Given the description of an element on the screen output the (x, y) to click on. 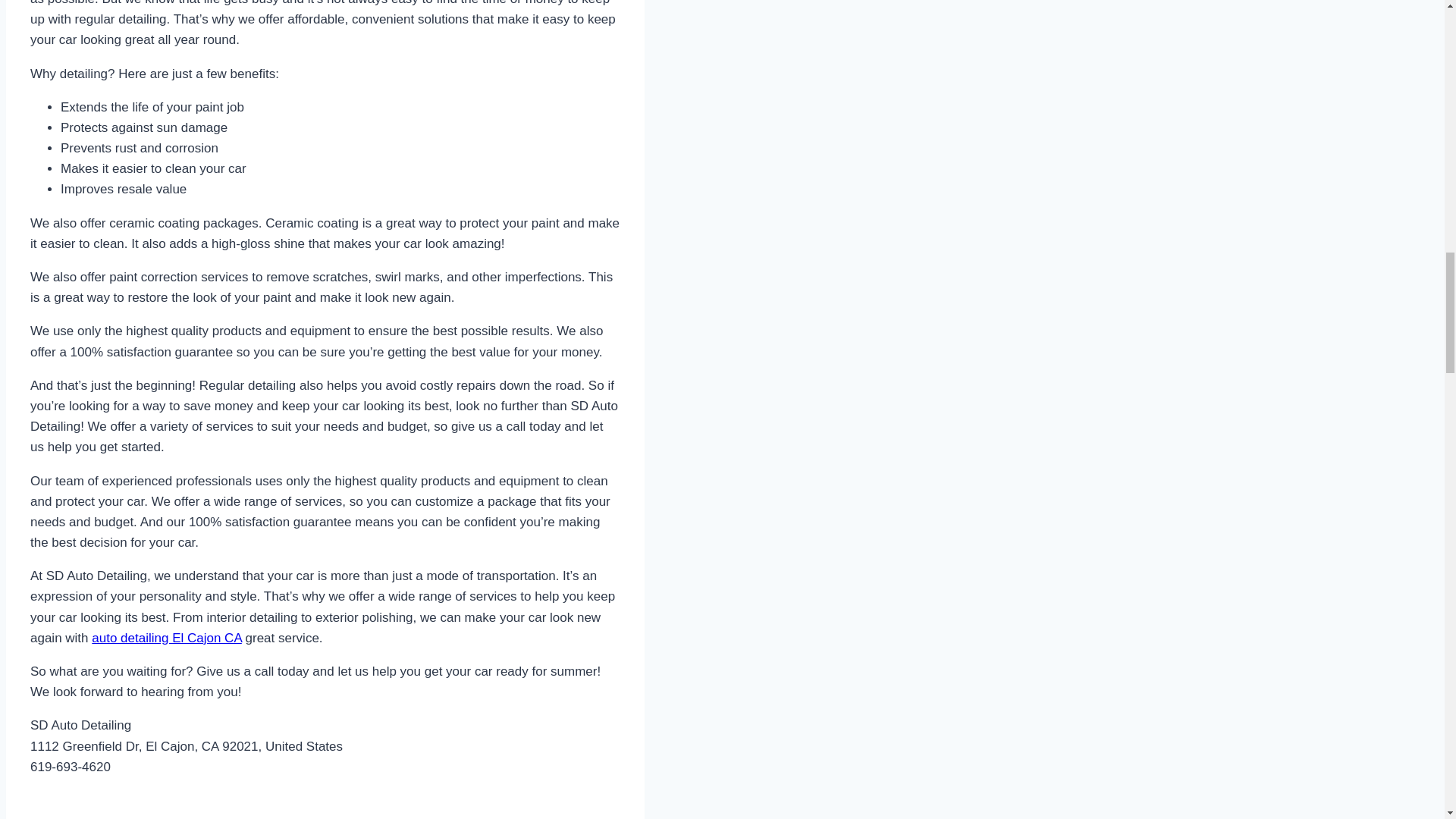
auto detailing El Cajon CA (166, 637)
